Given the description of an element on the screen output the (x, y) to click on. 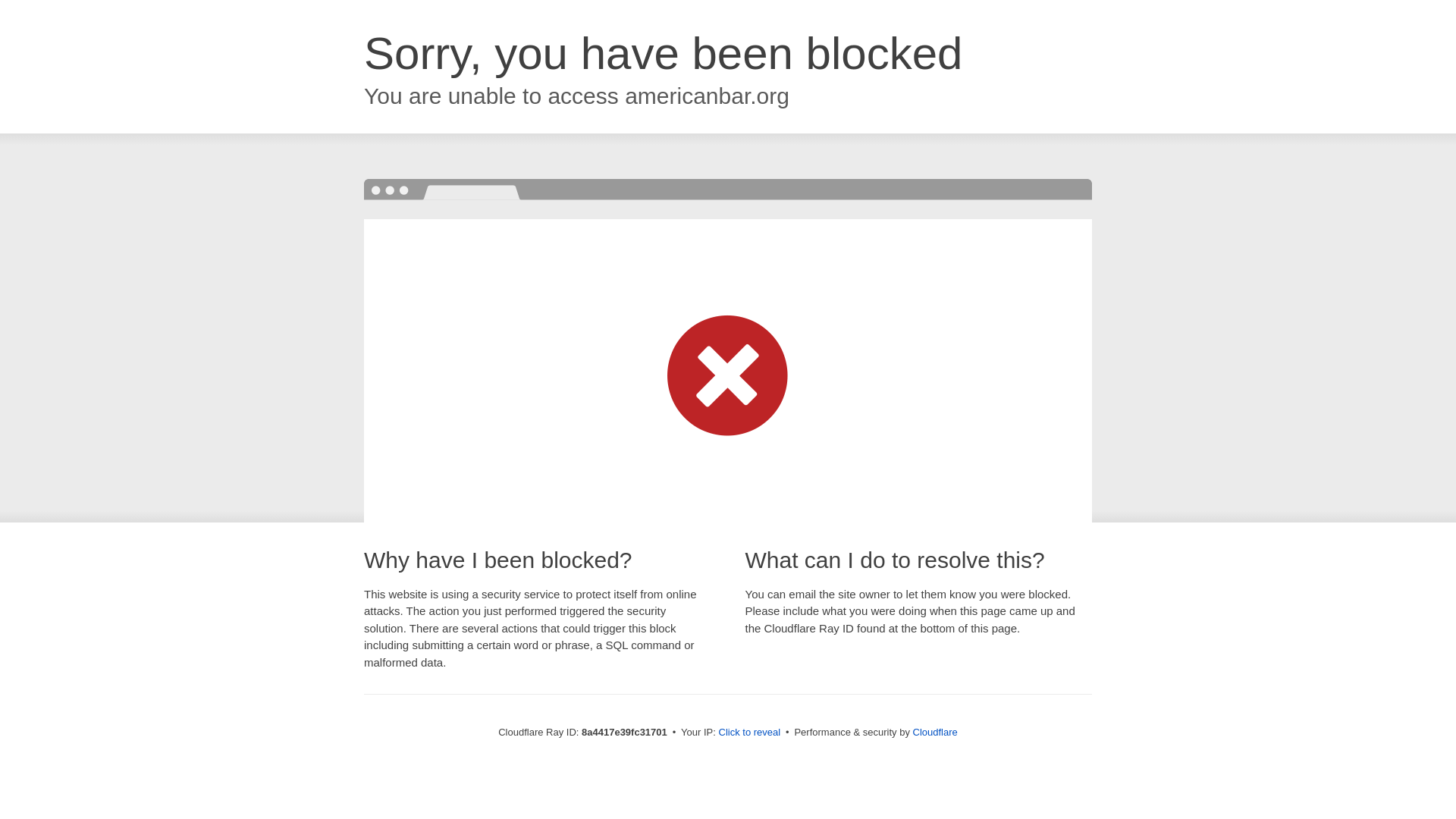
Click to reveal (749, 732)
Cloudflare (935, 731)
